Given the description of an element on the screen output the (x, y) to click on. 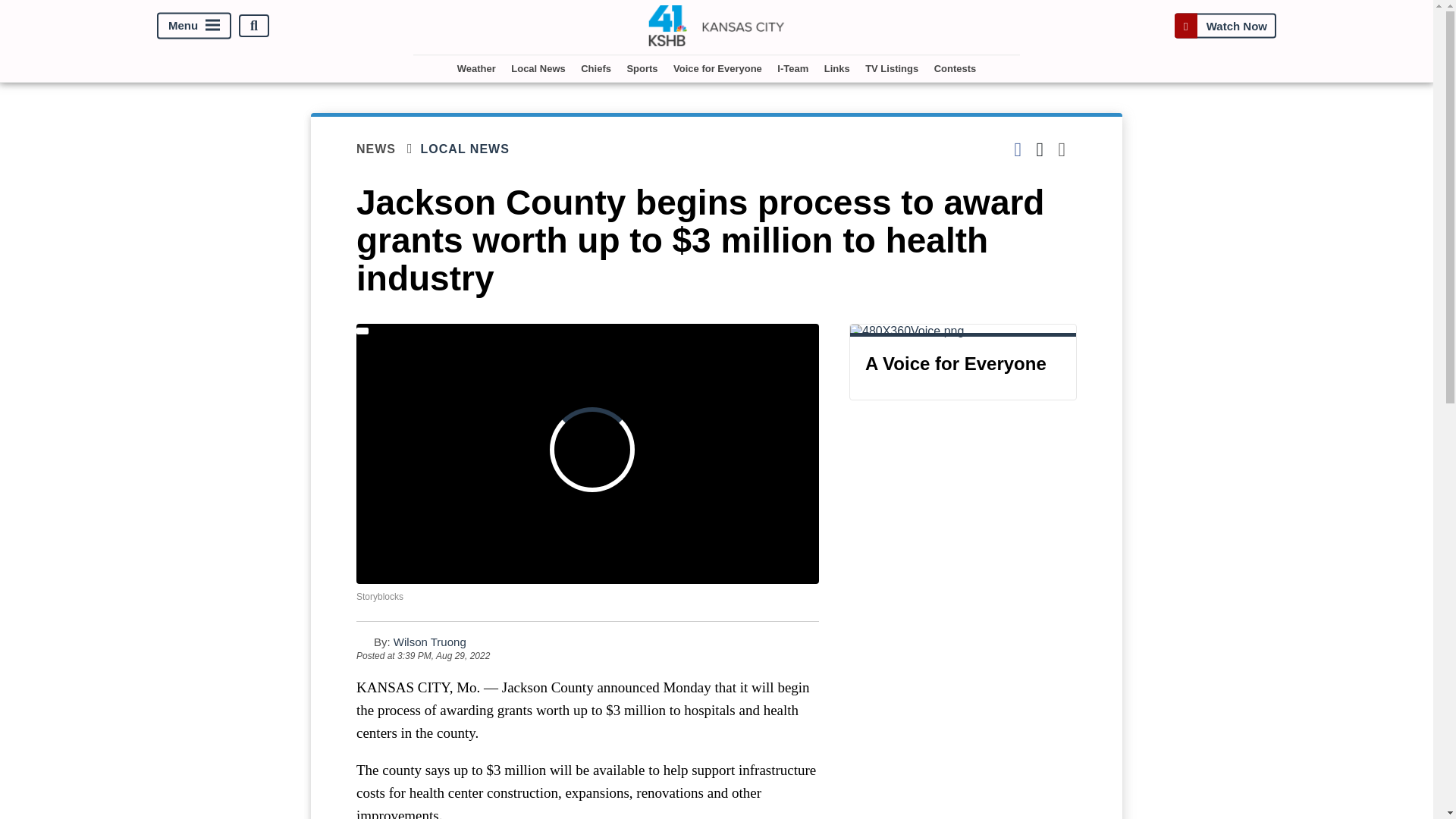
Watch Now (1224, 25)
Menu (194, 26)
